Given the description of an element on the screen output the (x, y) to click on. 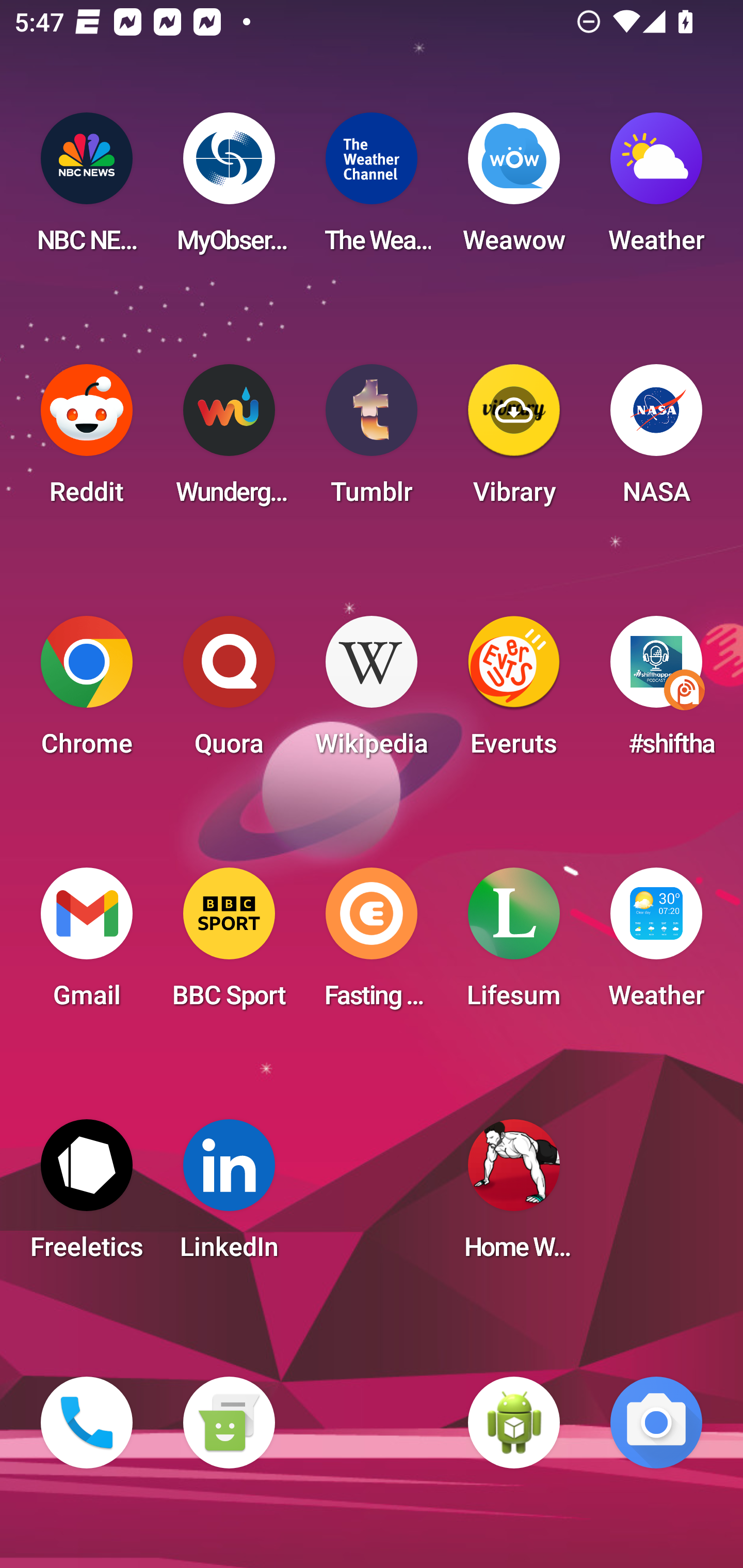
NBC NEWS (86, 188)
MyObservatory (228, 188)
The Weather Channel (371, 188)
Weawow (513, 188)
Weather (656, 188)
Reddit (86, 440)
Wunderground (228, 440)
Tumblr (371, 440)
Vibrary (513, 440)
NASA (656, 440)
Chrome (86, 692)
Quora (228, 692)
Wikipedia (371, 692)
Everuts (513, 692)
#shifthappens in the Digital Workplace Podcast (656, 692)
Gmail (86, 943)
BBC Sport (228, 943)
Fasting Coach (371, 943)
Lifesum (513, 943)
Weather (656, 943)
Freeletics (86, 1195)
LinkedIn (228, 1195)
Home Workout (513, 1195)
Phone (86, 1422)
Messaging (228, 1422)
WebView Browser Tester (513, 1422)
Camera (656, 1422)
